Given the description of an element on the screen output the (x, y) to click on. 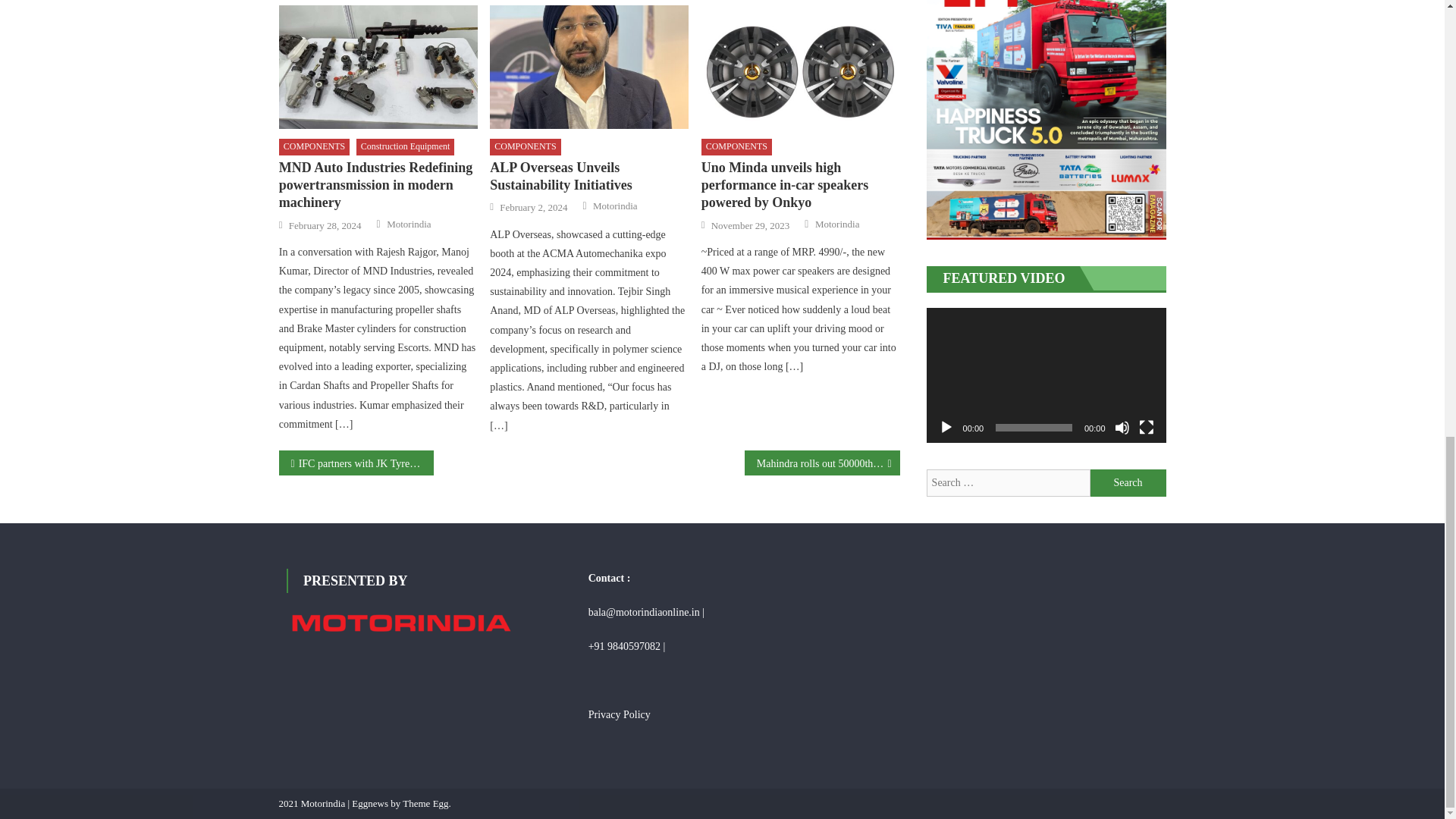
Search (1128, 482)
Play (946, 427)
COMPONENTS (314, 146)
Presented by (399, 623)
Motorindia DIGITAL EDITION (1046, 119)
Search (1128, 482)
ALP Overseas Unveils Sustainability Initiatives (588, 66)
Fullscreen (1146, 427)
Mute (1122, 427)
